Given the description of an element on the screen output the (x, y) to click on. 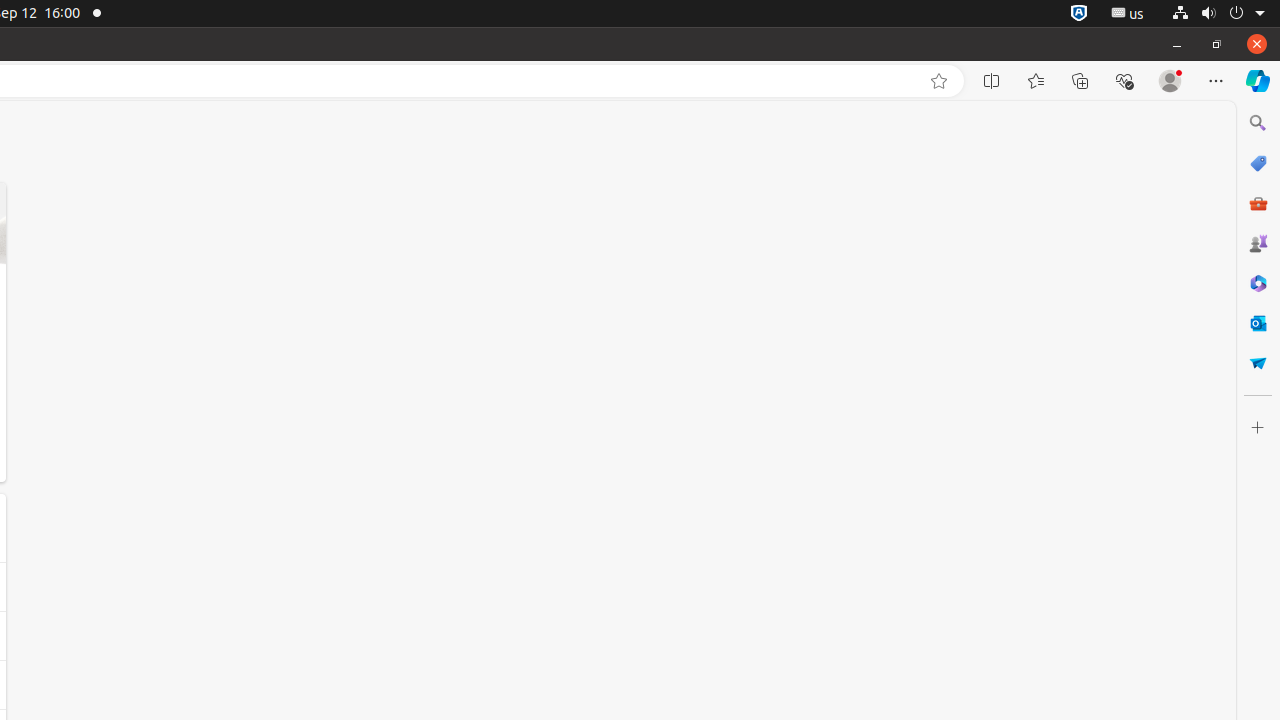
Games Element type: push-button (1258, 243)
Outlook Element type: push-button (1258, 323)
Split screen Element type: push-button (992, 81)
Search Element type: push-button (1258, 123)
